Given the description of an element on the screen output the (x, y) to click on. 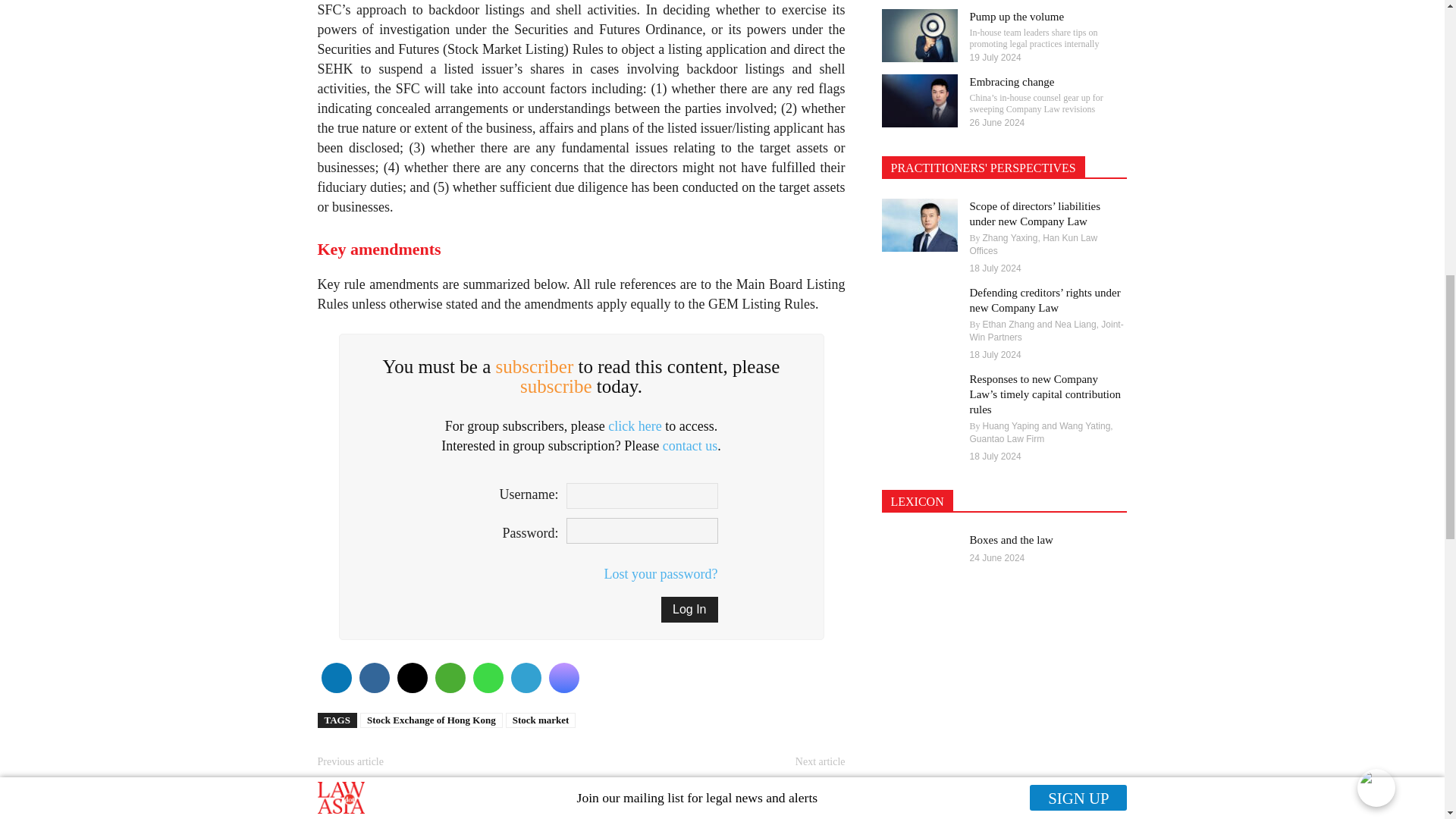
Facebook (373, 677)
Whatsapp (487, 677)
Log In (689, 609)
LinkedIn (335, 677)
Twitter (411, 677)
